Given the description of an element on the screen output the (x, y) to click on. 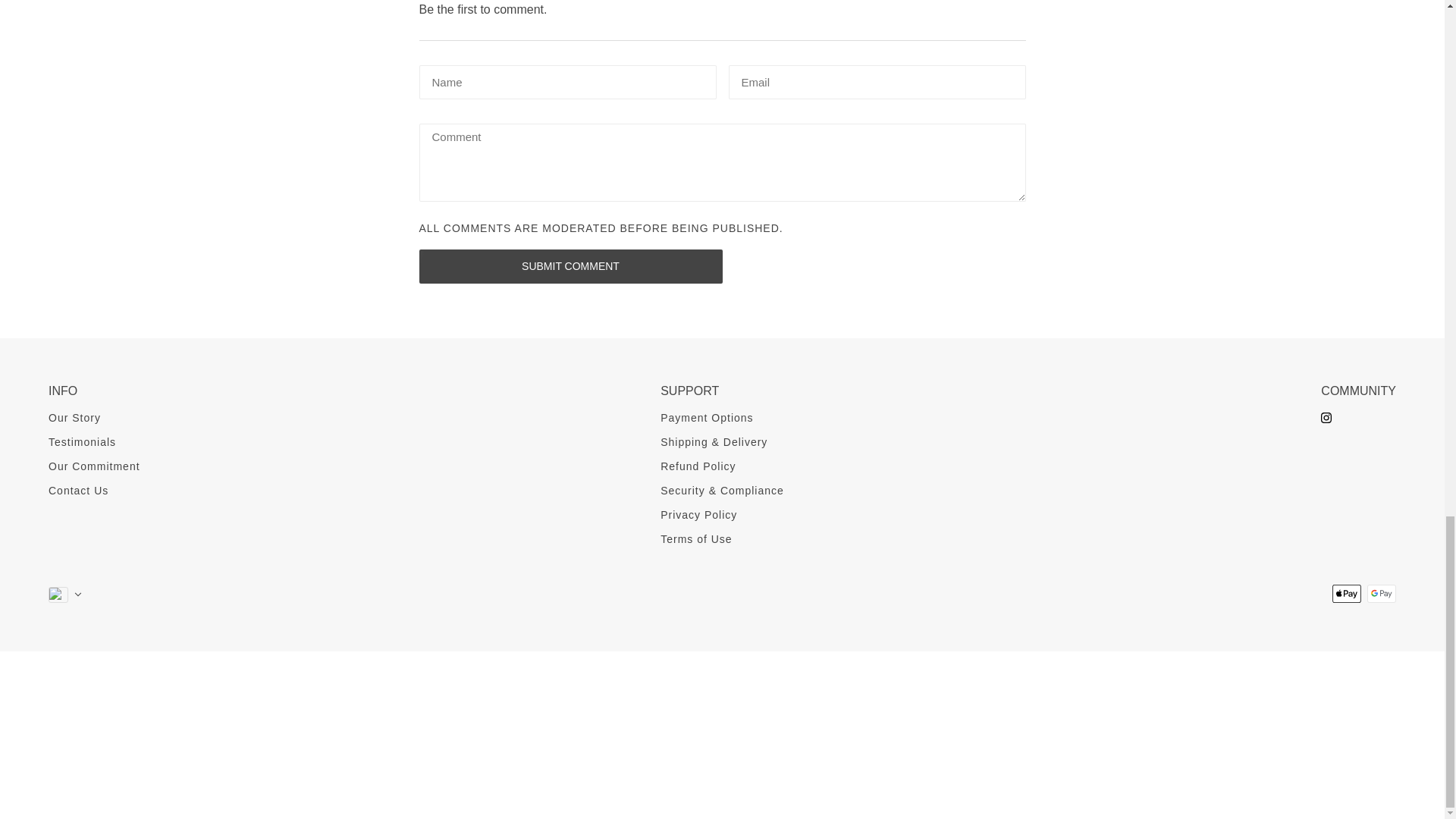
Our Story (74, 417)
Privacy Policy (698, 514)
Refund Policy (698, 466)
Our Commitment (93, 466)
Contact Us (77, 490)
Terms of Use (696, 539)
Payment Options (706, 417)
Testimonials (82, 441)
